Given the description of an element on the screen output the (x, y) to click on. 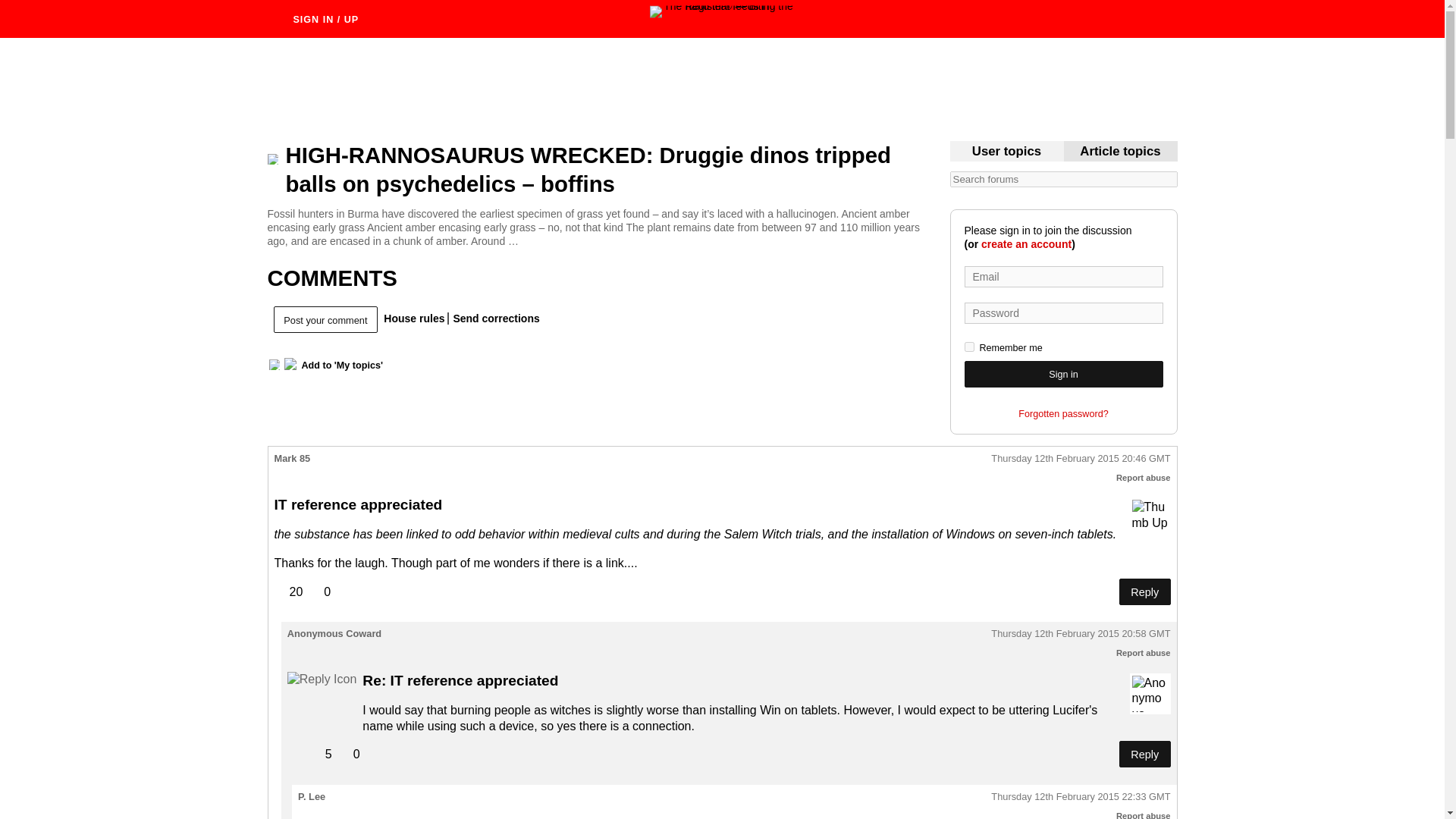
yes (968, 347)
Forgotten password? (1063, 413)
Report abuse (1143, 652)
In reply to (321, 679)
Love it (1149, 517)
Commentards, Commentards, Commentards (1006, 151)
Report abuse (1143, 815)
For corrections, please use link below article copy, kthxbye (1120, 151)
Permalink to this post (1080, 634)
Inappropriate post? Report it to our moderators (1143, 652)
Spotted an error? Let us know. (492, 318)
Dislike this post? Vote it down! (319, 591)
Report abuse (1143, 477)
Inappropriate post? Report it to our moderators (1143, 477)
Permalink to this post (1080, 459)
